Given the description of an element on the screen output the (x, y) to click on. 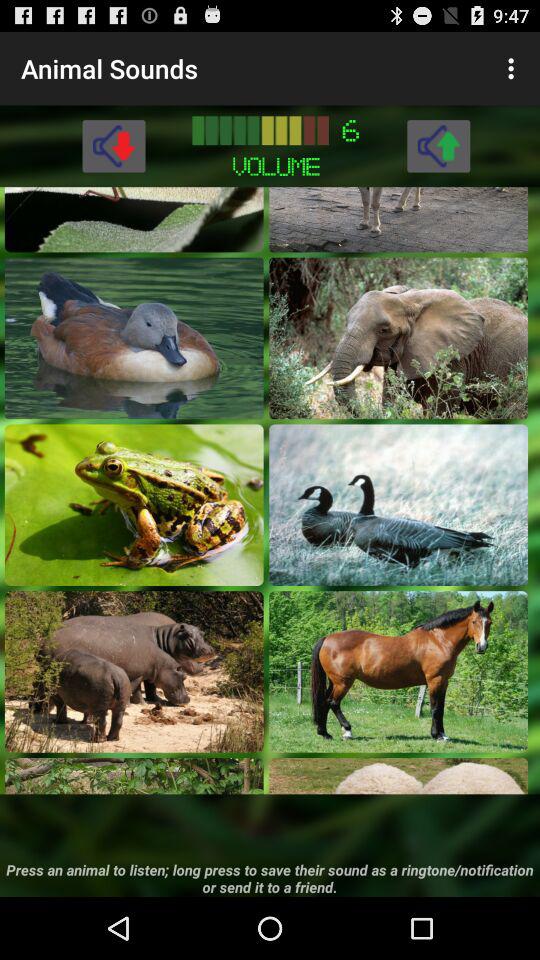
clickable sound file (133, 504)
